Given the description of an element on the screen output the (x, y) to click on. 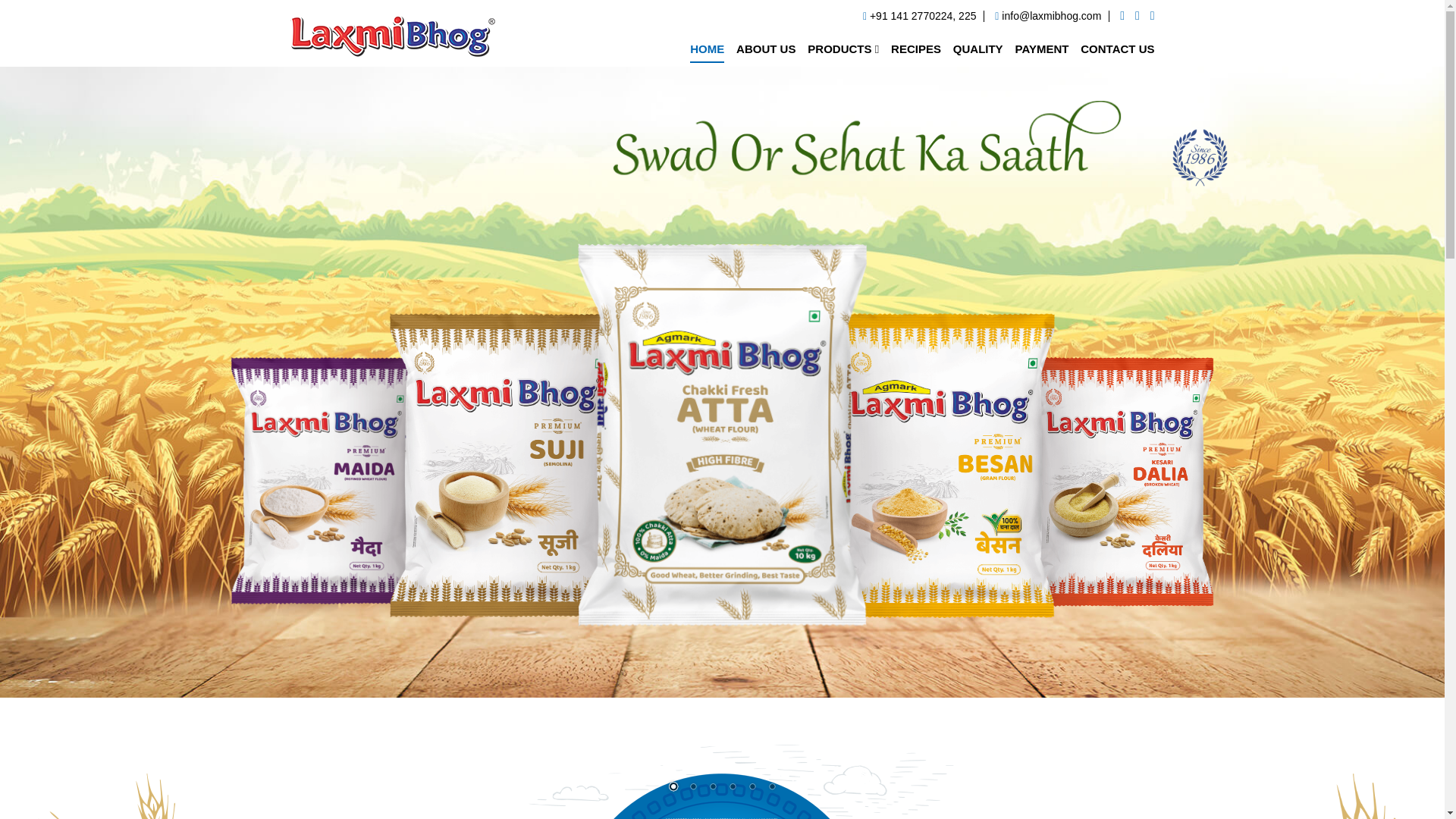
2 (692, 787)
ABOUT US (765, 48)
6 (770, 787)
4 (731, 787)
PAYMENT (1041, 48)
5 (751, 787)
QUALITY (978, 48)
PRODUCTS (843, 48)
3 (711, 787)
RECIPES (915, 48)
